Given the description of an element on the screen output the (x, y) to click on. 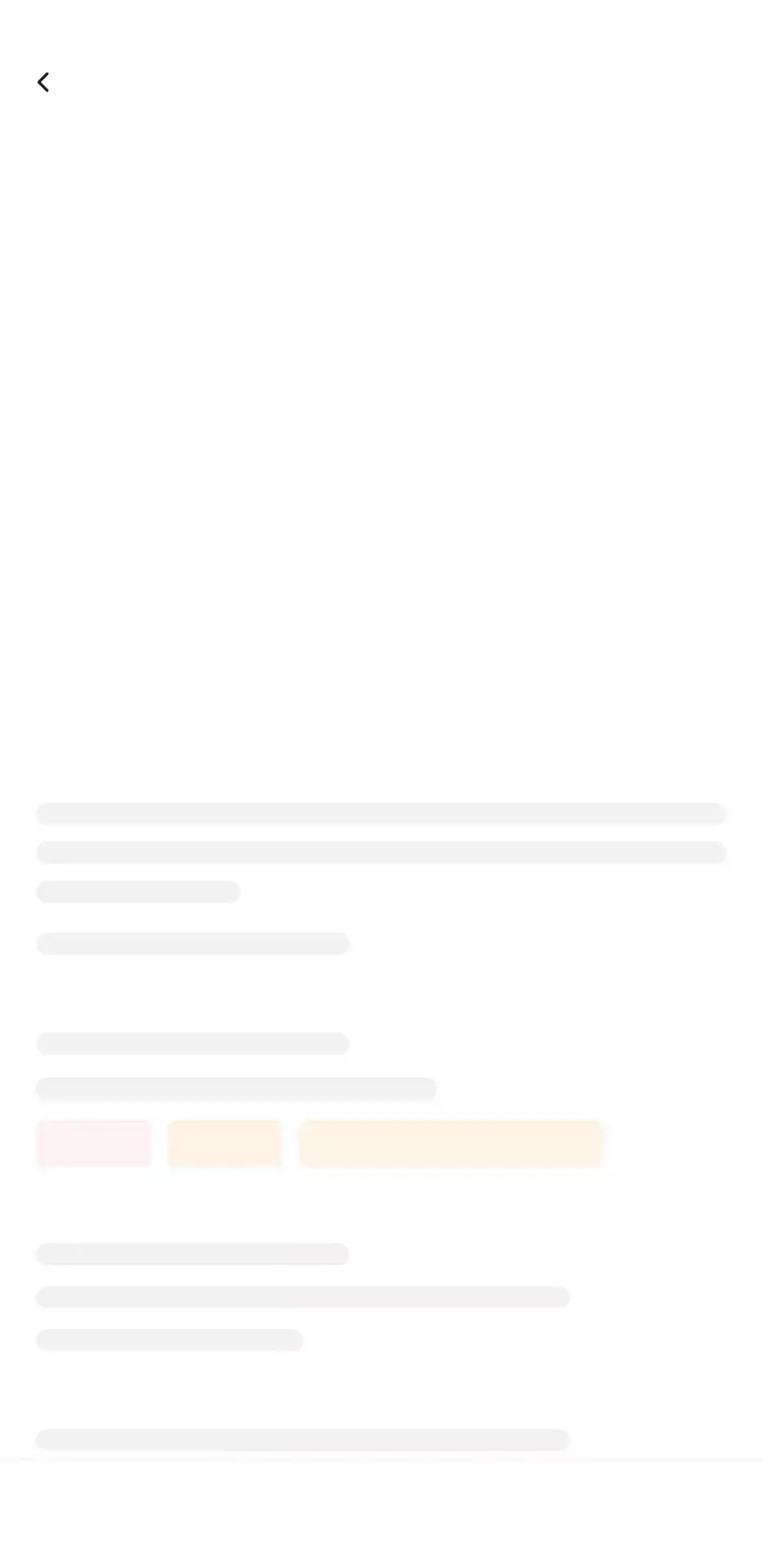
Navigate up (44, 82)
